Given the description of an element on the screen output the (x, y) to click on. 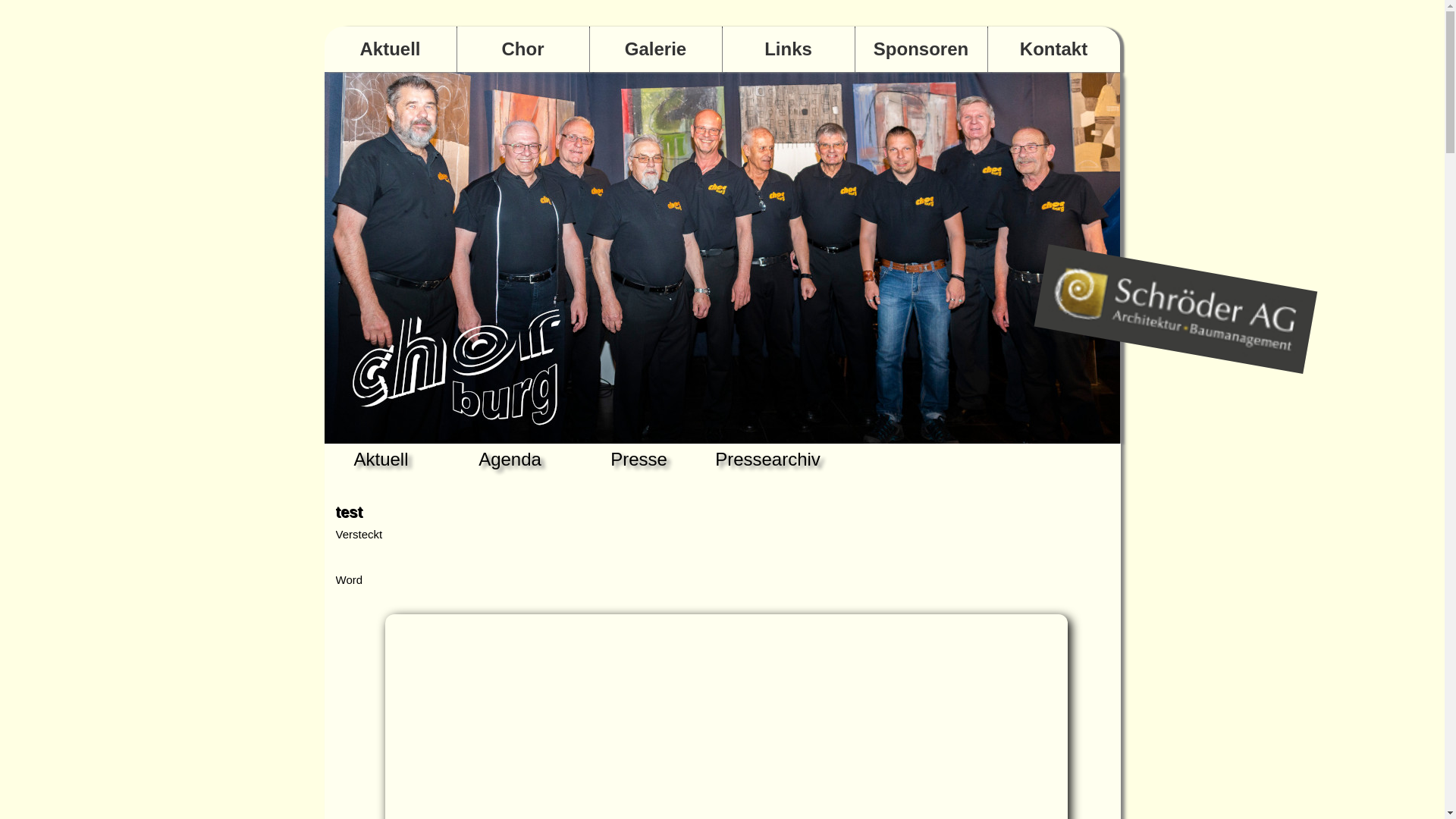
Chor Element type: text (522, 49)
Aktuell Element type: text (380, 458)
Links Element type: text (787, 49)
Aktuell Element type: text (390, 49)
Presse Element type: text (638, 458)
Galerie Element type: text (655, 49)
Pressearchiv Element type: text (767, 458)
Kontakt Element type: text (1053, 49)
Sponsoren Element type: text (921, 49)
Agenda Element type: text (509, 458)
